Given the description of an element on the screen output the (x, y) to click on. 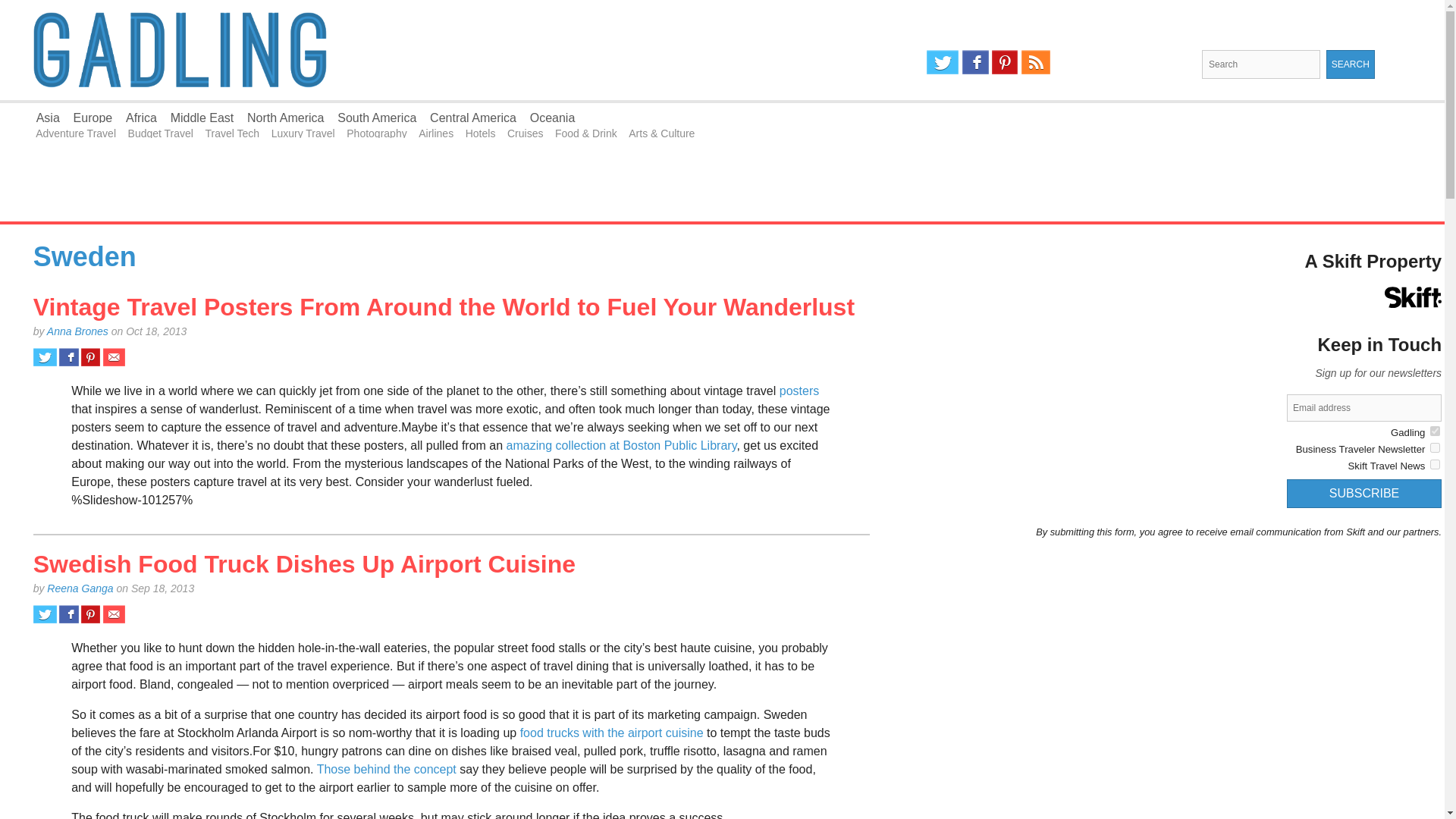
Subscribe (1364, 493)
Swedish Food Truck Dishes Up Airport Cuisine (304, 564)
Central America (472, 117)
Reena Ganga (79, 588)
Share on Twitter (44, 357)
Swedish Food Truck Dishes Up Airport Cuisine (304, 564)
Oceania (552, 117)
256 (1434, 430)
Middle East (202, 117)
amazing collection at Boston Public Library (621, 445)
Facebook (975, 61)
Sweden (84, 255)
Anna Brones (76, 331)
Share on Facebook (68, 614)
Hotels (480, 133)
